Given the description of an element on the screen output the (x, y) to click on. 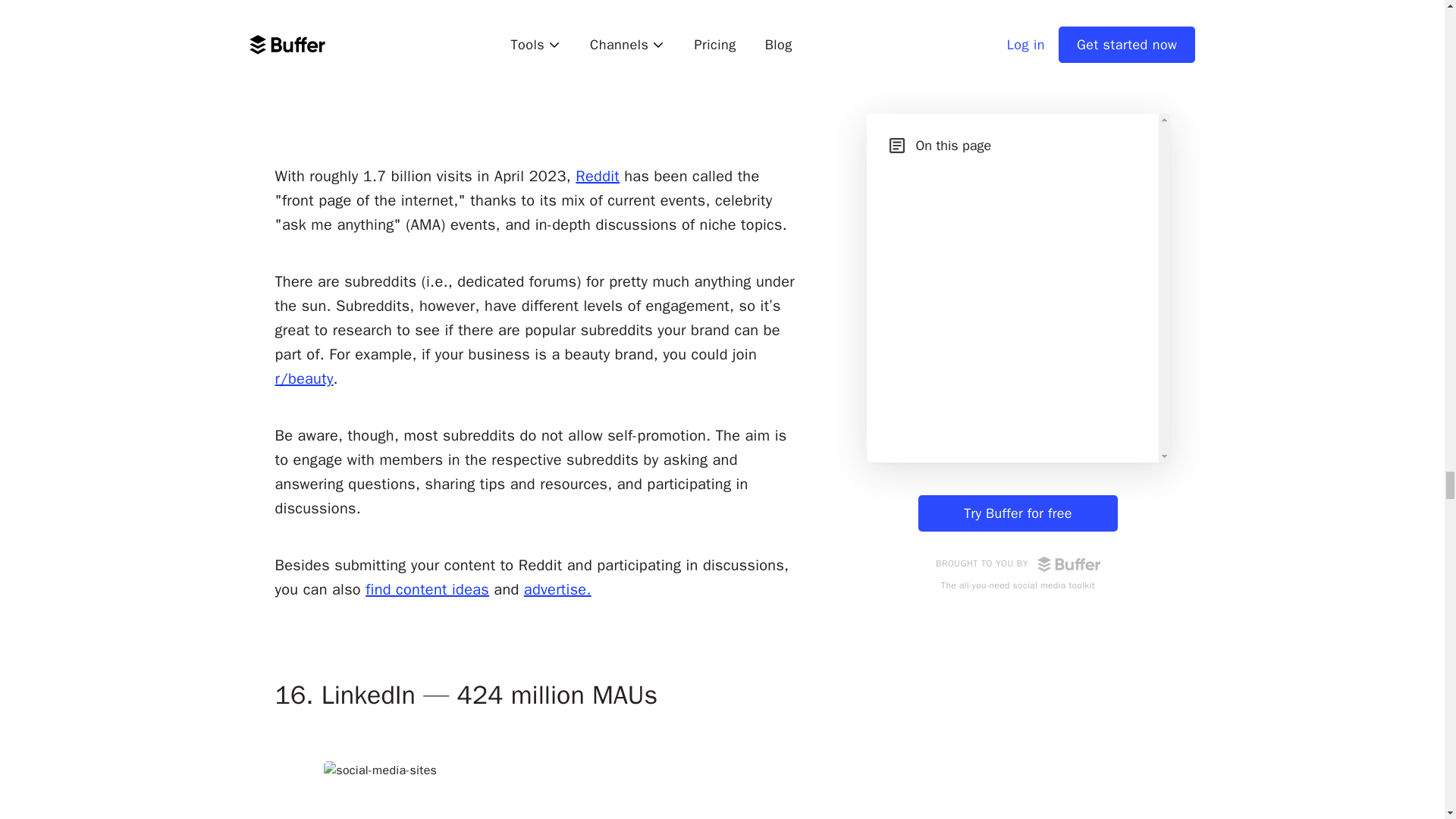
Reddit homepage screenshot (537, 57)
